Given the description of an element on the screen output the (x, y) to click on. 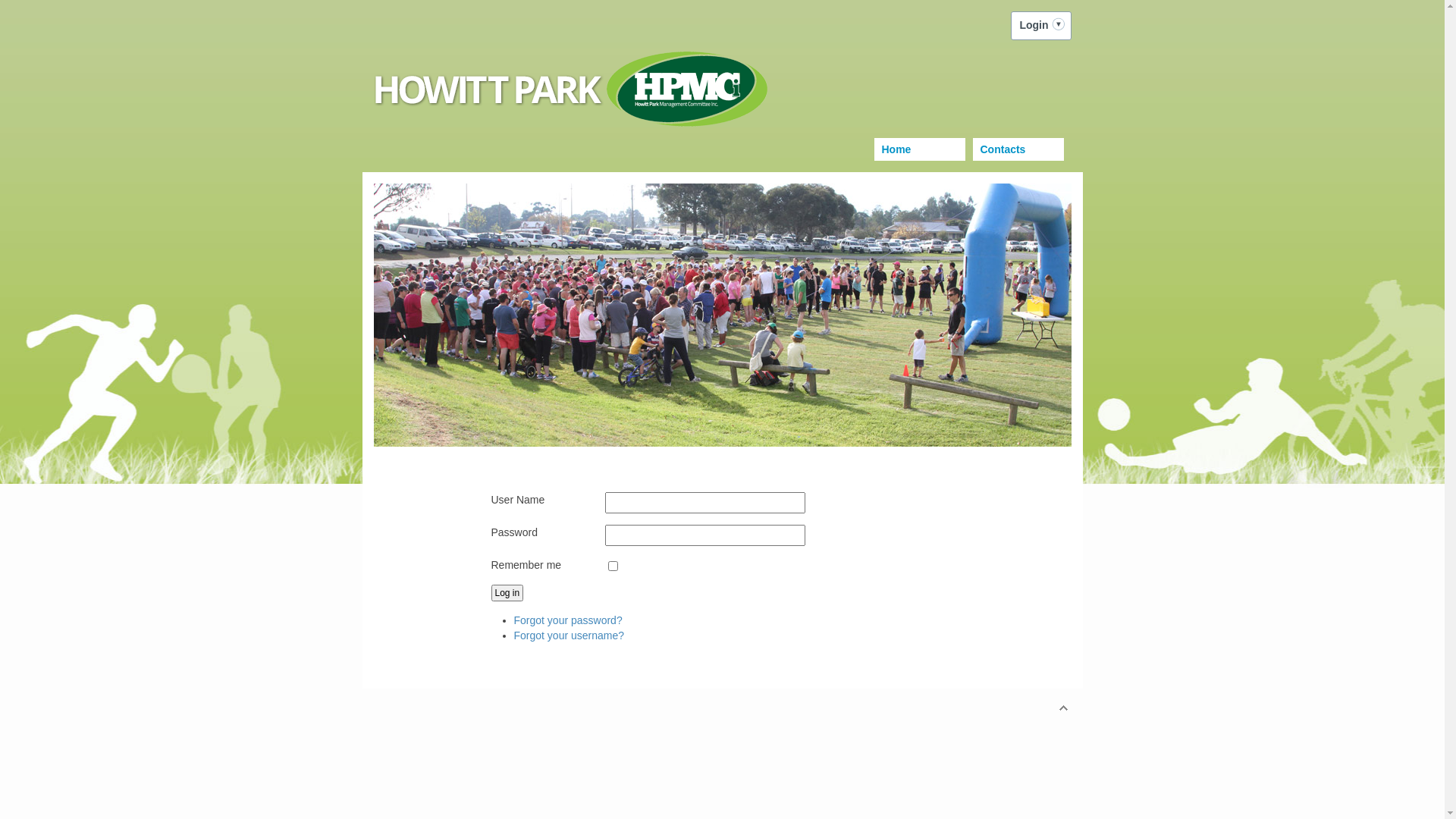
Forgot your username? Element type: text (569, 635)
Forgot your password? Element type: text (568, 620)
Login Element type: text (1040, 25)
Log in Element type: text (507, 592)
Contacts Element type: text (1017, 149)
banner2 Element type: hover (721, 314)
Home Element type: text (918, 149)
